Given the description of an element on the screen output the (x, y) to click on. 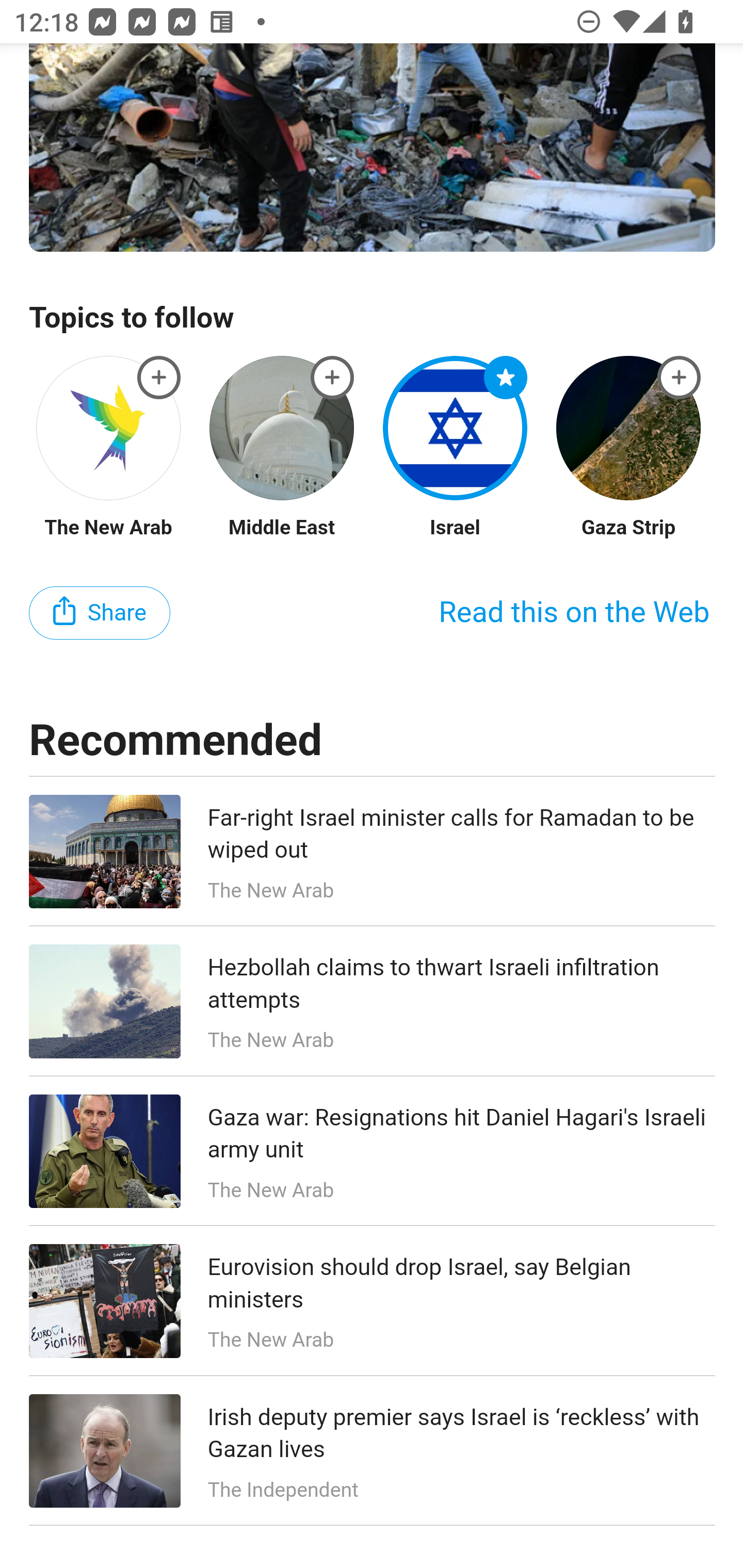
israel-continues-gaza-siege-famine-deaths-rise (159, 378)
israel-continues-gaza-siege-famine-deaths-rise (332, 378)
israel-continues-gaza-siege-famine-deaths-rise (505, 378)
israel-continues-gaza-siege-famine-deaths-rise (679, 378)
The New Arab (108, 528)
Middle East (281, 528)
Israel (454, 528)
Gaza Strip (627, 528)
Read this on the Web (573, 612)
Share (99, 613)
